Given the description of an element on the screen output the (x, y) to click on. 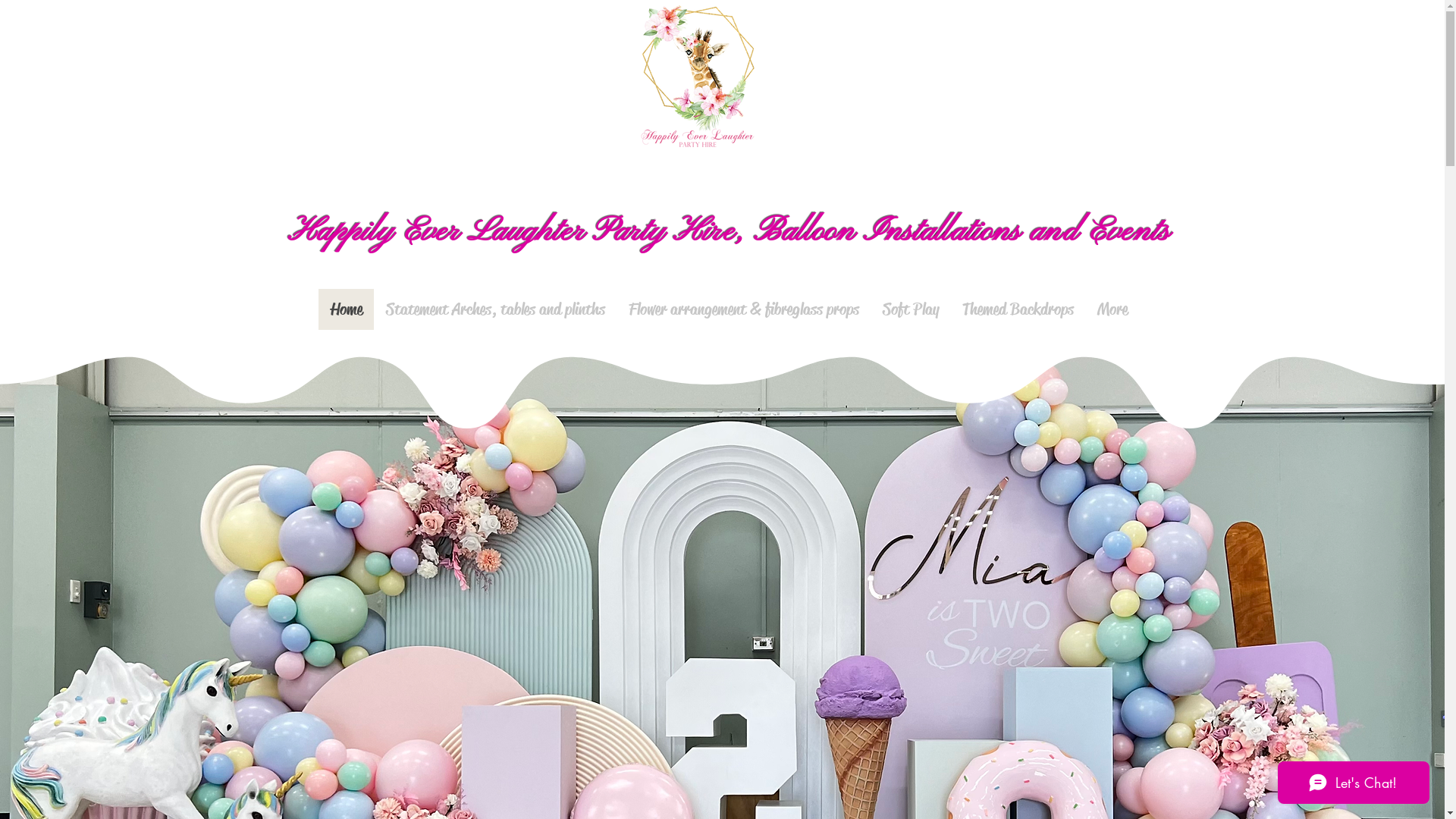
Home Element type: text (345, 308)
Soft Play Element type: text (910, 308)
Themed Backdrops Element type: text (1016, 308)
Statement Arches, tables and plinths Element type: text (494, 308)
Flower arrangement & fibreglass props Element type: text (742, 308)
